Given the description of an element on the screen output the (x, y) to click on. 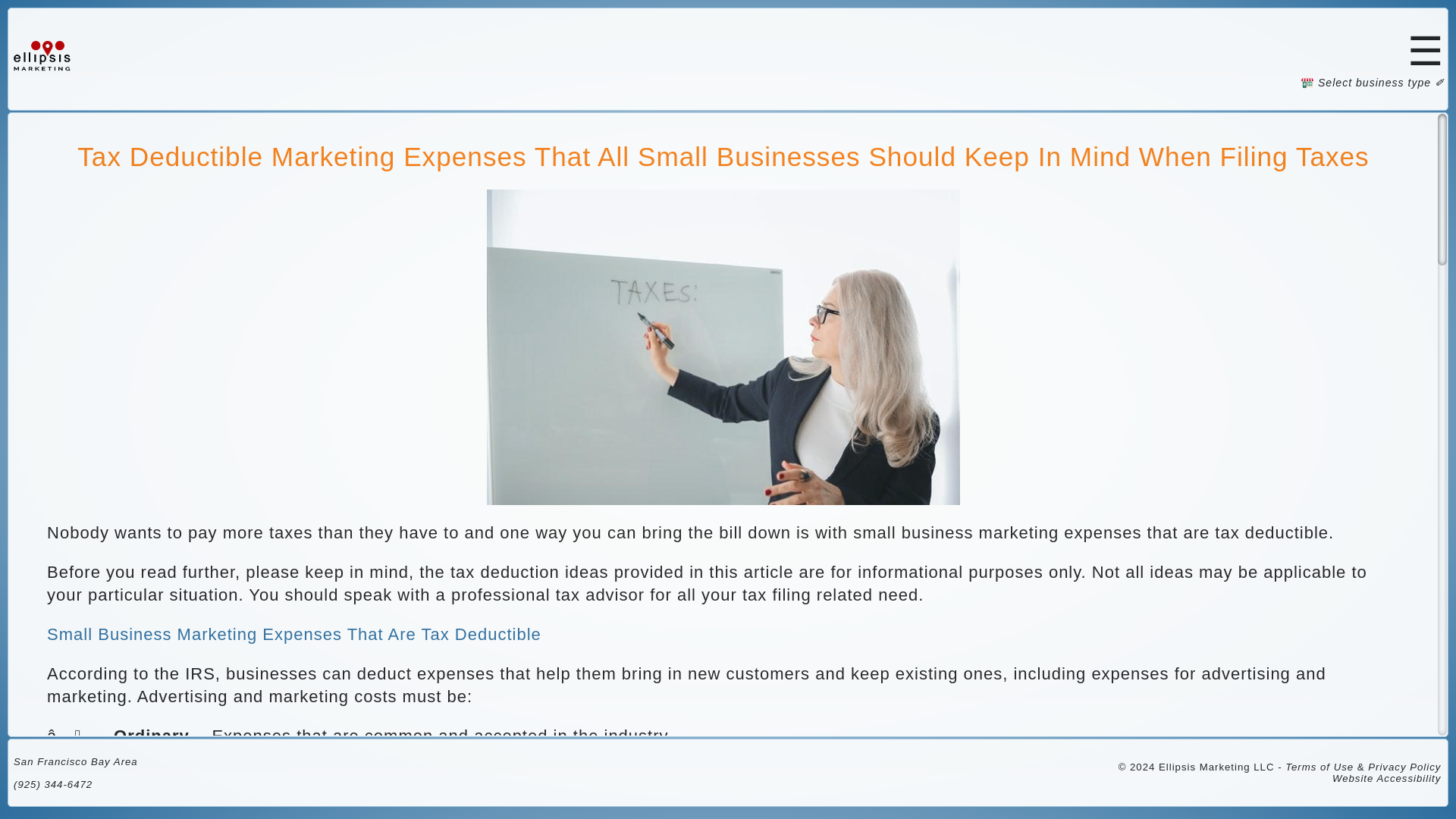
Website Accessibility (1386, 778)
Terms of Use (1319, 767)
Privacy Policy (1404, 767)
